Given the description of an element on the screen output the (x, y) to click on. 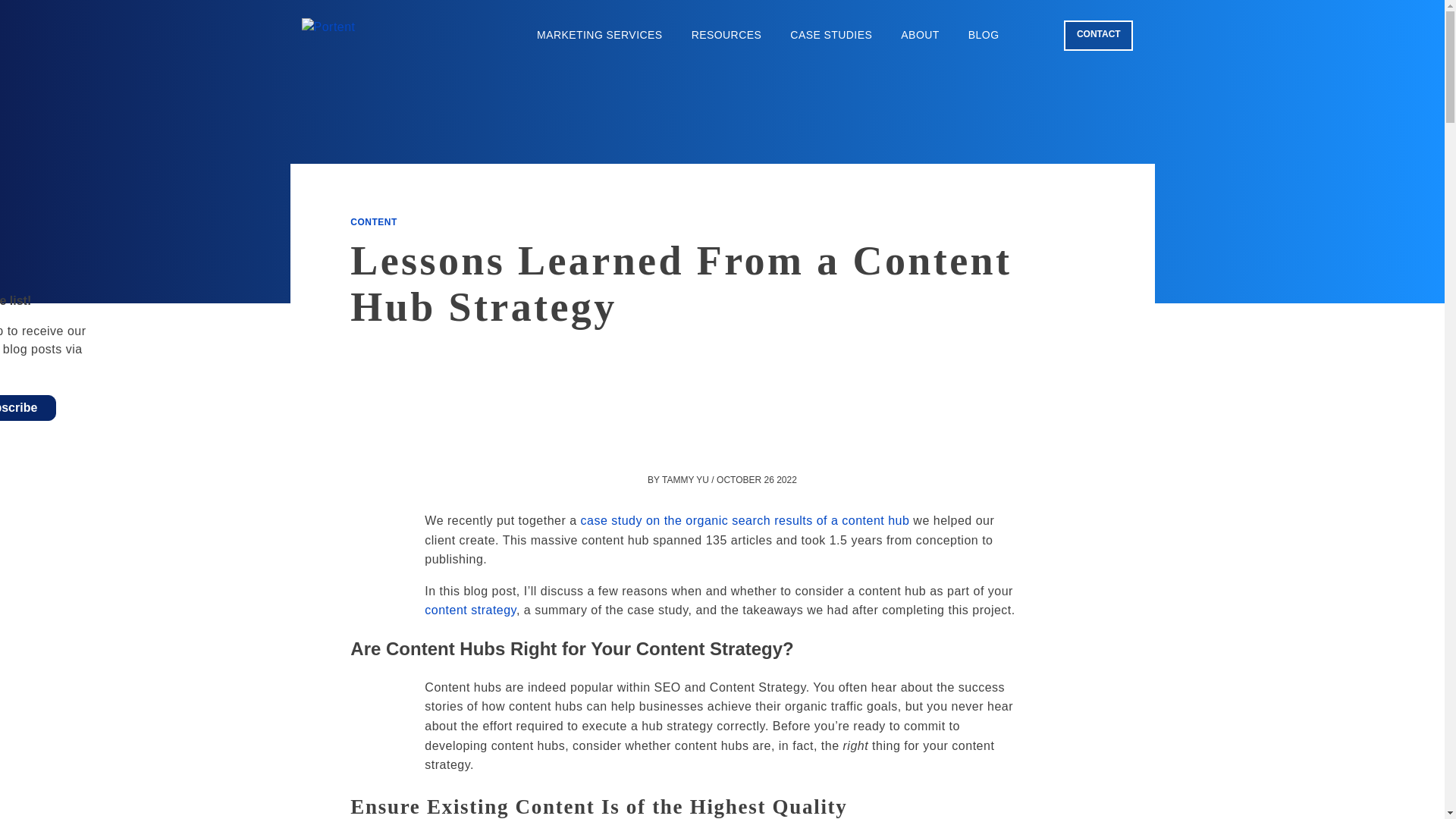
TAMMY YU (685, 480)
MARKETING SERVICES (599, 35)
Search (1036, 34)
CONTENT (373, 222)
content strategy (470, 609)
CASE STUDIES (831, 35)
RESOURCES (726, 35)
ABOUT (920, 35)
BLOG (983, 35)
case study on the organic search results of a content hub (745, 520)
